Given the description of an element on the screen output the (x, y) to click on. 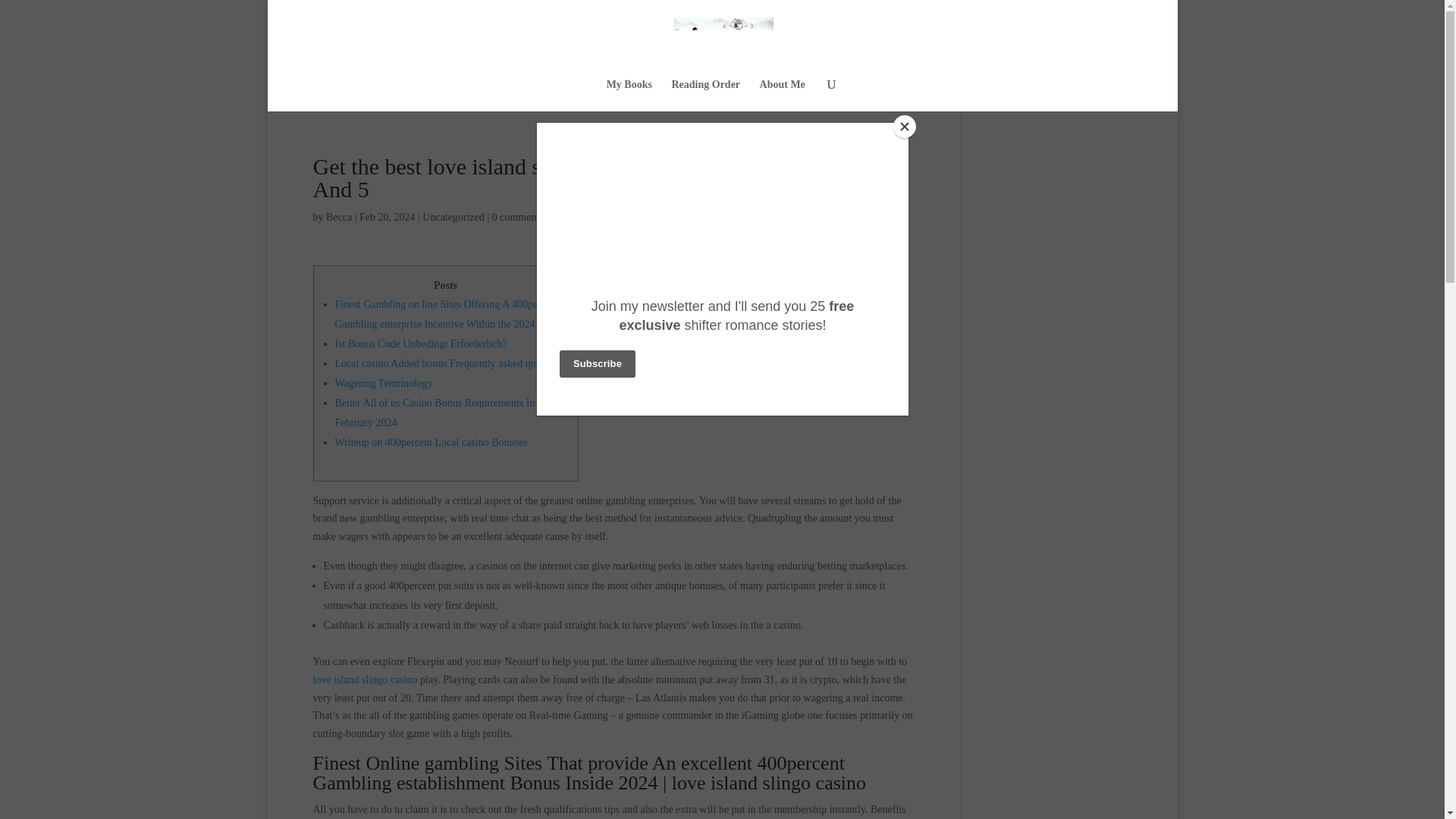
Ist Bonus Code Unbedingt Erforderlich? (420, 343)
About Me (782, 95)
Local casino Added bonus Frequently asked questions (450, 363)
love island slingo casino (364, 679)
Posts by Becca (339, 216)
Reading Order (705, 95)
My Books (629, 95)
Uncategorized (453, 216)
